Given the description of an element on the screen output the (x, y) to click on. 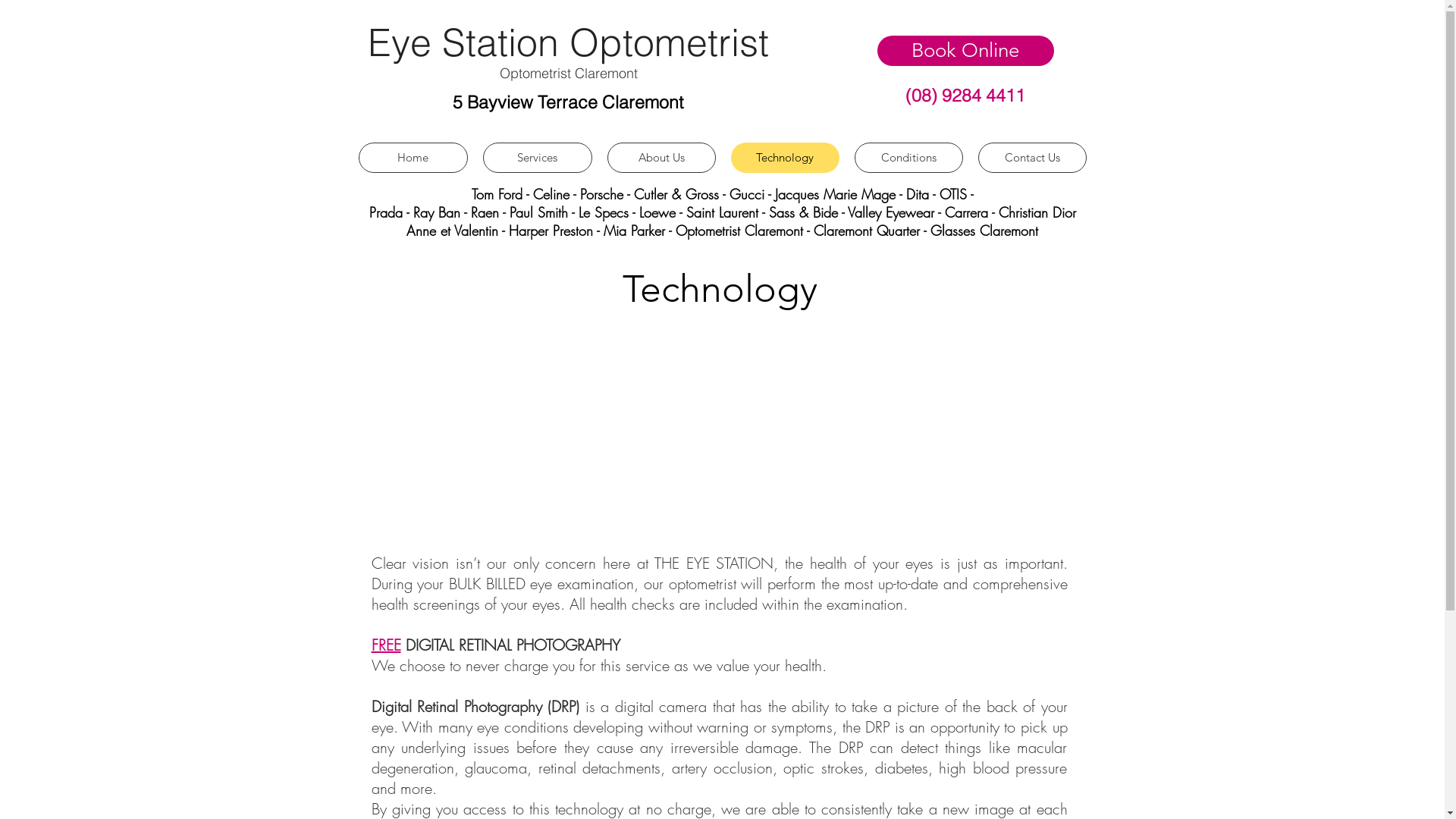
RayBan Element type: text (142, 212)
OGA Element type: text (36, 183)
Fendi Element type: text (42, 111)
Tiffany & Co Element type: text (72, 241)
- Element type: text (572, 194)
Book Online Element type: text (964, 50)
 Maui Jim Element type: text (70, 176)
Prada Element type: text (384, 212)
Jacques Marie Mage Element type: text (835, 194)
Thom Browne Element type: text (70, 233)
OTIS Element type: text (952, 194)
About Us Element type: text (660, 157)
TAG Heuer Element type: text (82, 226)
Services Element type: text (536, 157)
Cartier Element type: text (98, 82)
 Prada Element type: text (52, 212)
Serengeti Element type: text (30, 226)
Jacques Marie Mage Element type: text (50, 133)
- Element type: text (404, 212)
Valley Eyewear - Element type: text (895, 212)
Saint Laurent Element type: text (721, 212)
- Element type: text (898, 194)
Gucci Element type: text (746, 194)
Technology Element type: text (785, 157)
Face a Face Element type: text (79, 104)
Dita Element type: text (110, 97)
Ic! Berlin Element type: text (54, 118)
Celine Element type: text (133, 82)
Gucci Element type: text (73, 111)
Cutler & Gross Element type: text (36, 97)
Marc Jacobs Element type: text (77, 169)
Contact Us Element type: text (1032, 157)
Conditions Element type: text (907, 157)
- Element type: text (465, 212)
LINDBERG Precious Element type: text (61, 161)
Celine Element type: text (551, 194)
Lightec Element type: text (49, 154)
Home Element type: text (412, 157)
Porsche Design Element type: text (53, 205)
Anne et Valentin Element type: text (48, 75)
Jimmy Choo Element type: text (33, 147)
Dior Element type: text (86, 97)
Prodesign Element type: text (96, 212)
OTIS Element type: text (54, 198)
Ray Ban Element type: text (435, 212)
Cutler & Gross Element type: text (675, 194)
Oliver Peoples Element type: text (42, 190)
Alain Mikli Element type: text (28, 68)
Bvlgari Element type: text (61, 82)
